Given the description of an element on the screen output the (x, y) to click on. 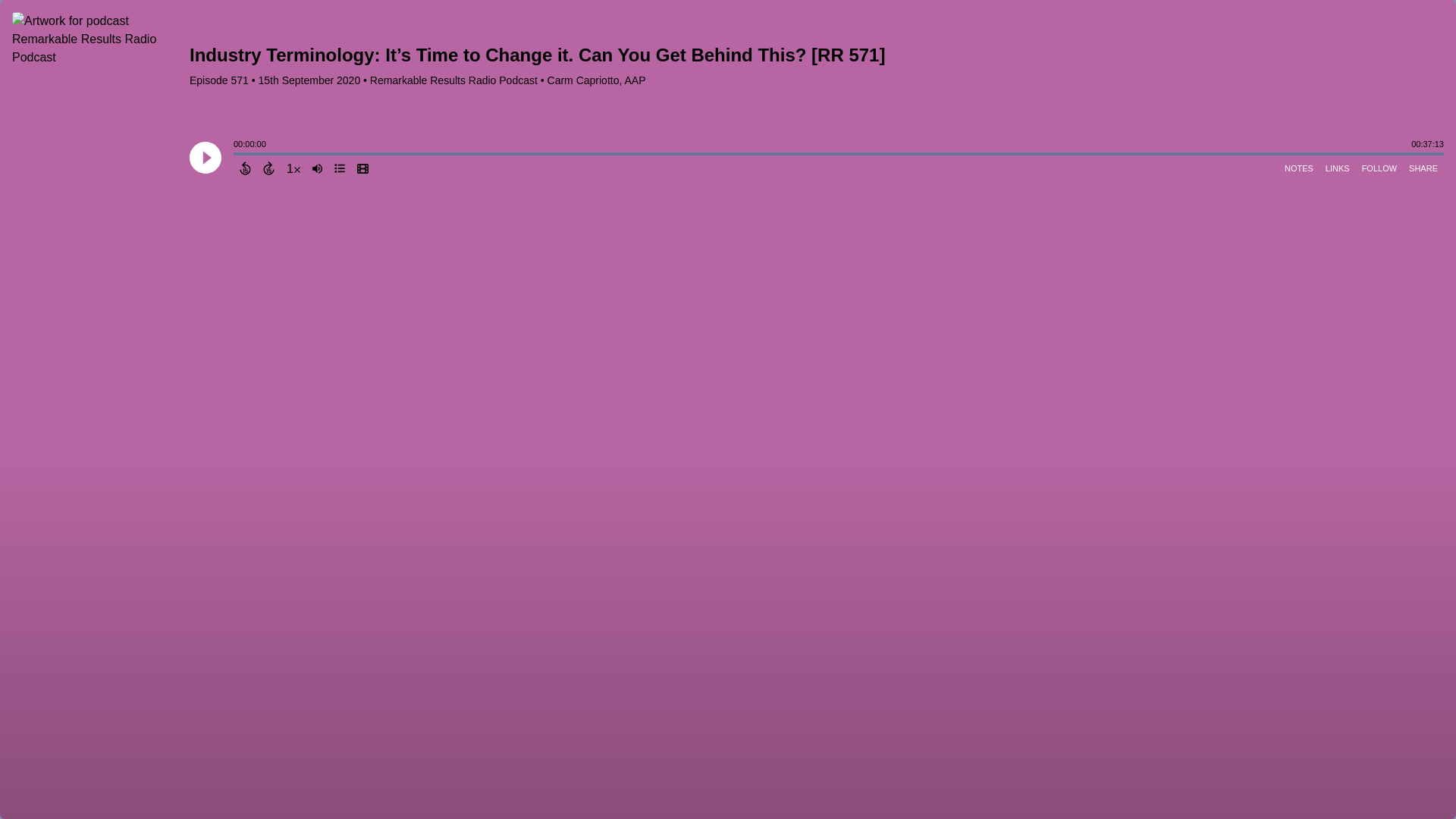
SHARE (1423, 167)
NOTES (1298, 167)
FOLLOW (1379, 167)
1 (293, 167)
LINKS (1337, 167)
